Given the description of an element on the screen output the (x, y) to click on. 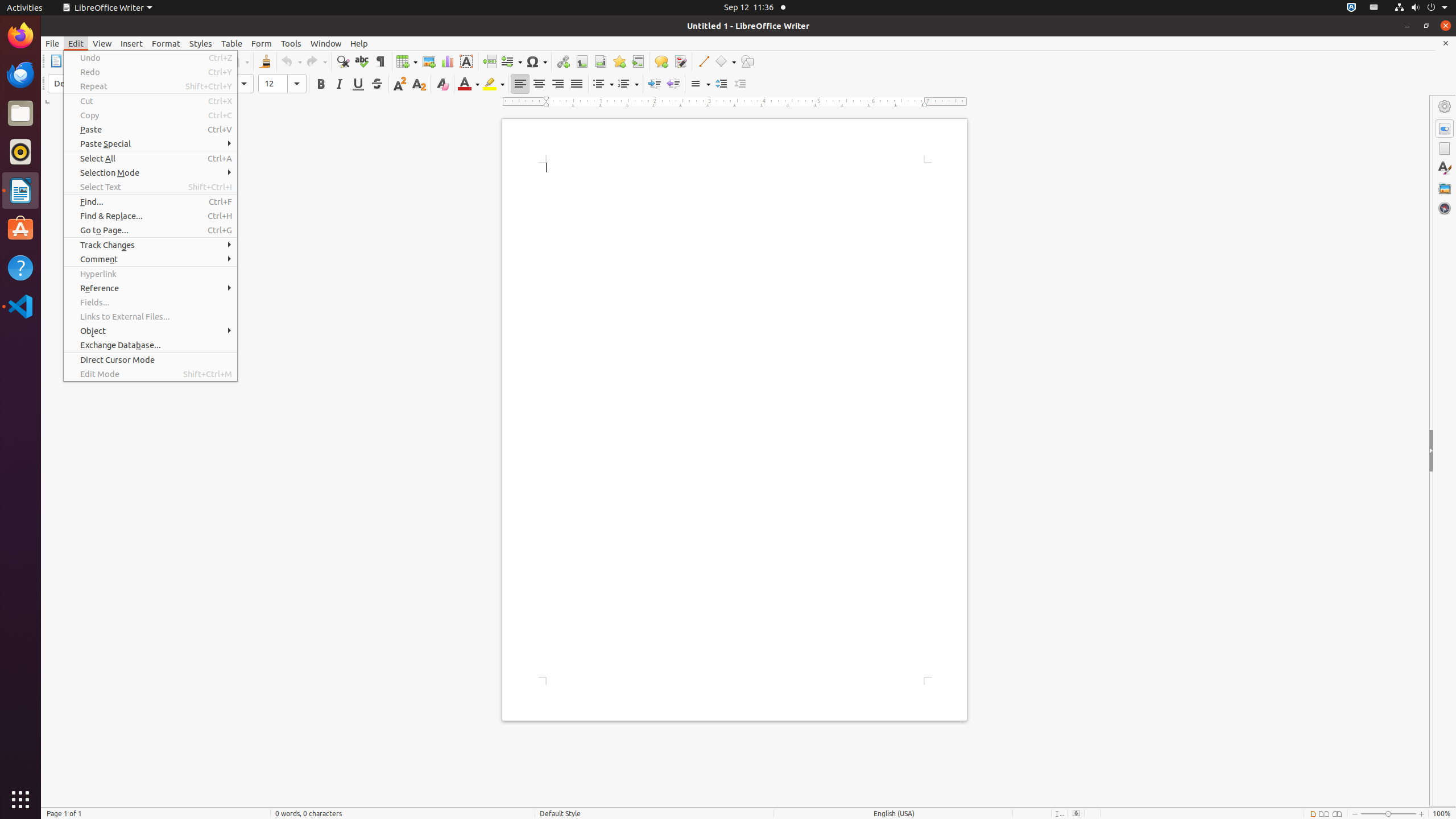
Subscript Element type: toggle-button (418, 83)
Endnote Element type: push-button (599, 61)
Draw Functions Element type: push-button (746, 61)
Fields... Element type: menu-item (150, 302)
Format Element type: menu (165, 43)
